Given the description of an element on the screen output the (x, y) to click on. 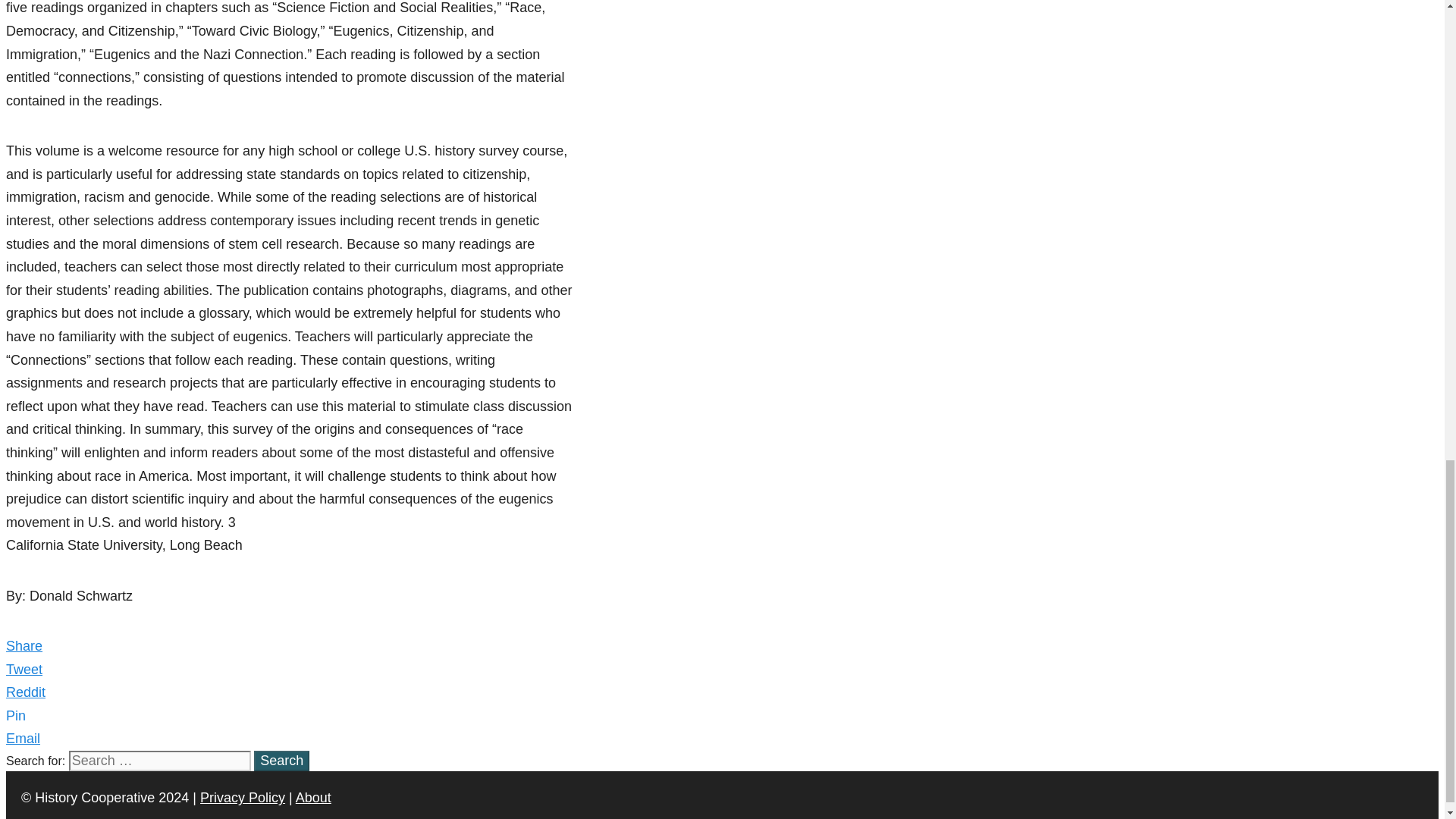
Tweet (23, 669)
Email (22, 738)
Share (23, 645)
Pin (15, 715)
Search (280, 761)
Reddit (25, 692)
Search for: (159, 761)
Search (280, 761)
